Given the description of an element on the screen output the (x, y) to click on. 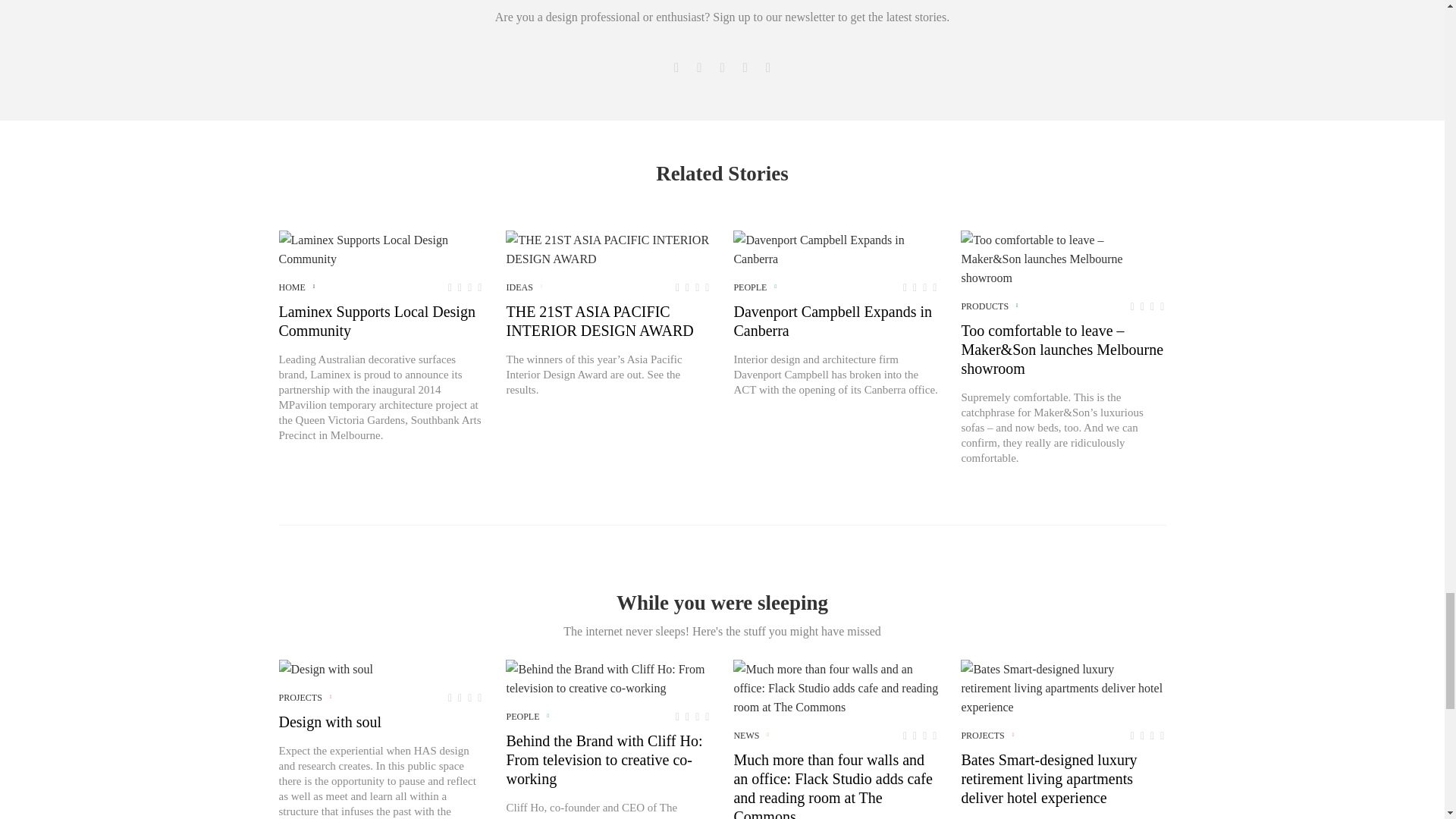
Laminex Supports Local Design Community (381, 249)
THE 21ST ASIA PACIFIC INTERIOR DESIGN AWARD (607, 249)
Design with soul (325, 669)
Davenport Campbell Expands in Canberra (835, 249)
